Given the description of an element on the screen output the (x, y) to click on. 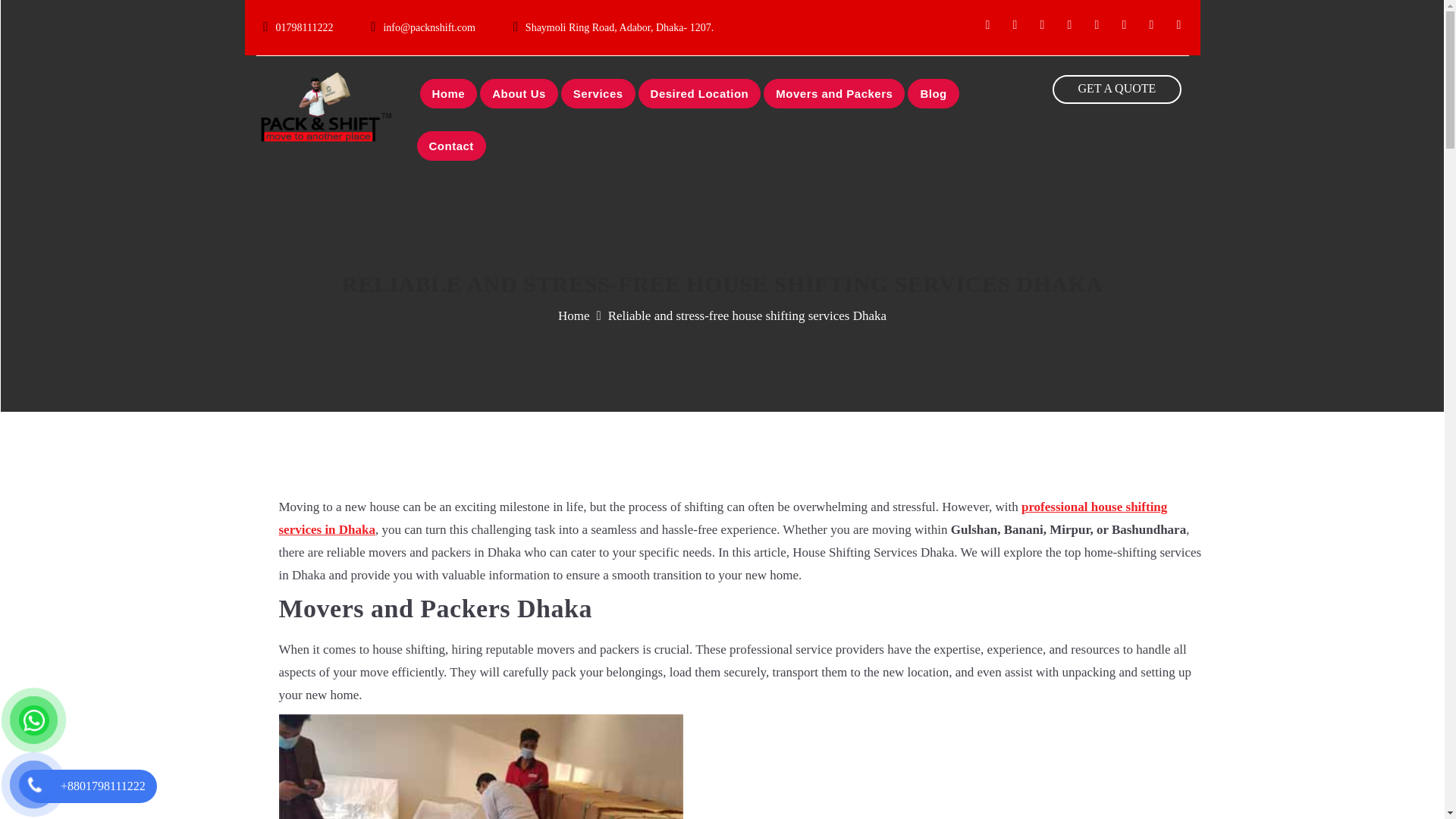
Home (573, 315)
Blog (932, 93)
About Us (518, 93)
Movers and Packers (833, 93)
Home (448, 93)
professional house shifting services in Dhaka (723, 518)
Shaymoli Ring Road, Adabor, Dhaka- 1207. (623, 27)
Services (597, 93)
01798111222 (308, 27)
Contact (451, 145)
Desired Location (700, 93)
GET A QUOTE (1117, 89)
